Given the description of an element on the screen output the (x, y) to click on. 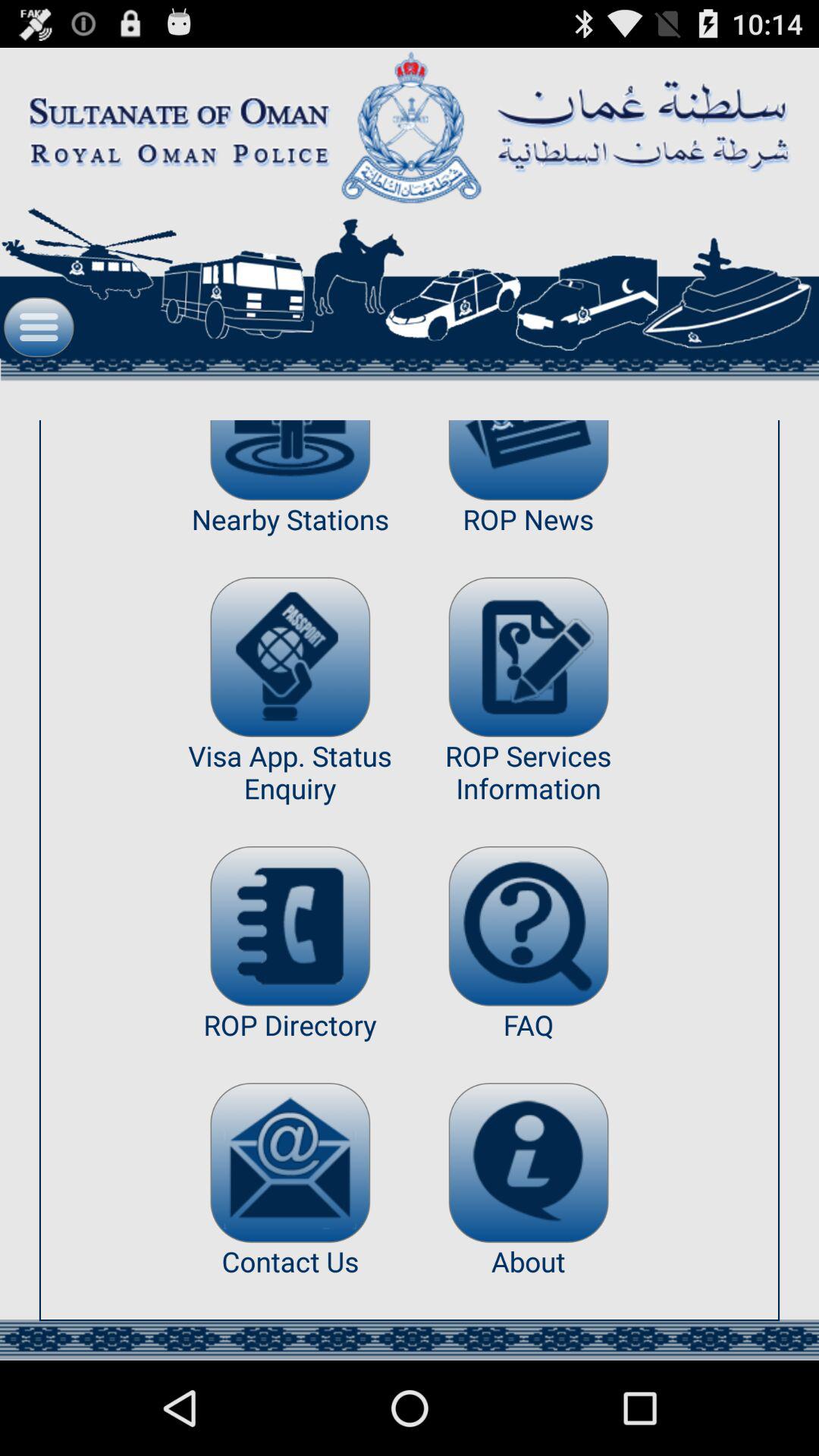
go to about page (528, 1162)
